Given the description of an element on the screen output the (x, y) to click on. 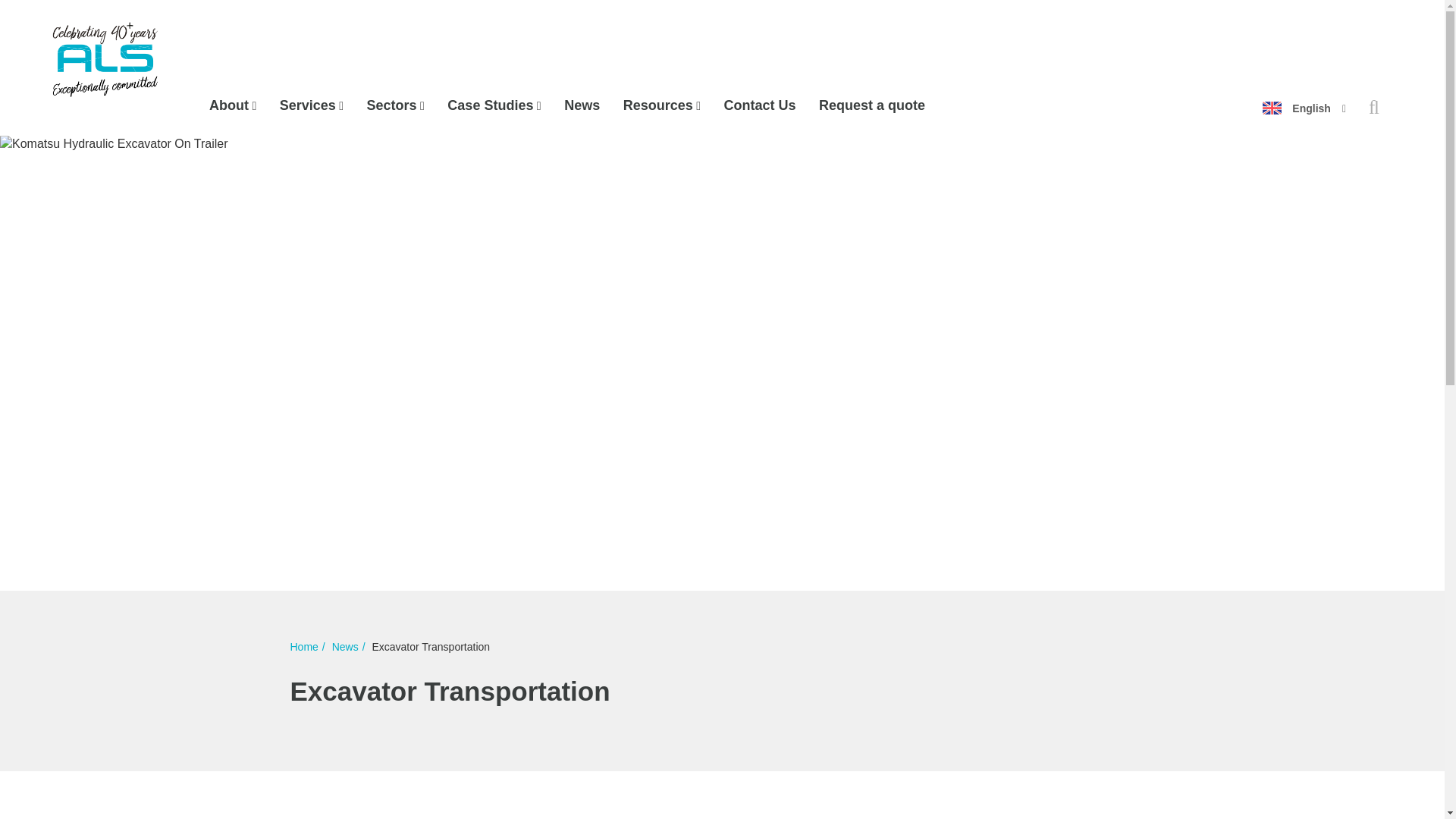
Services (305, 105)
Home (105, 67)
News (579, 105)
Case Studies (487, 105)
Sectors (389, 105)
Resources (655, 105)
About (226, 105)
Go (913, 80)
